Given the description of an element on the screen output the (x, y) to click on. 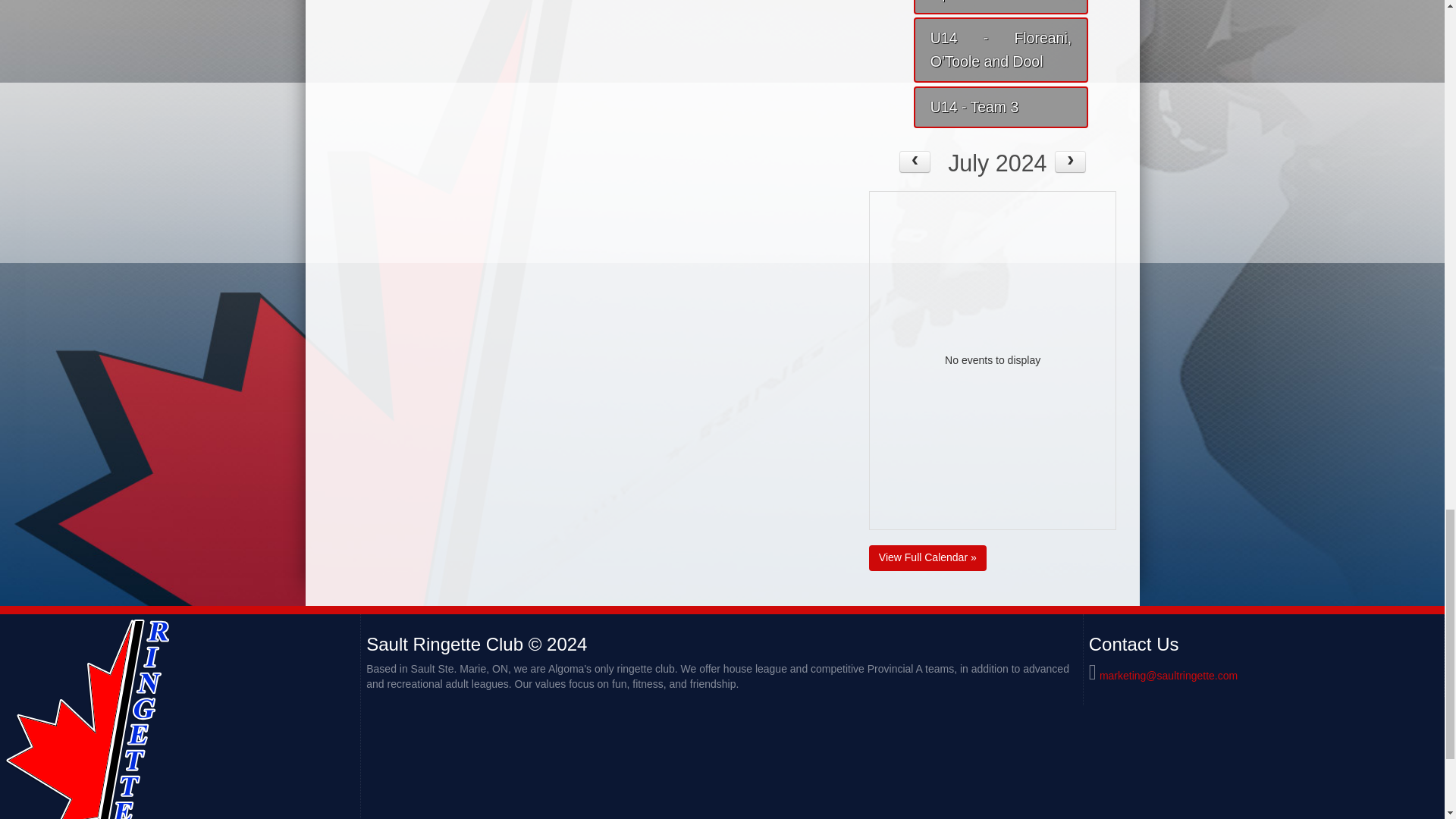
No events to display (992, 360)
